Given the description of an element on the screen output the (x, y) to click on. 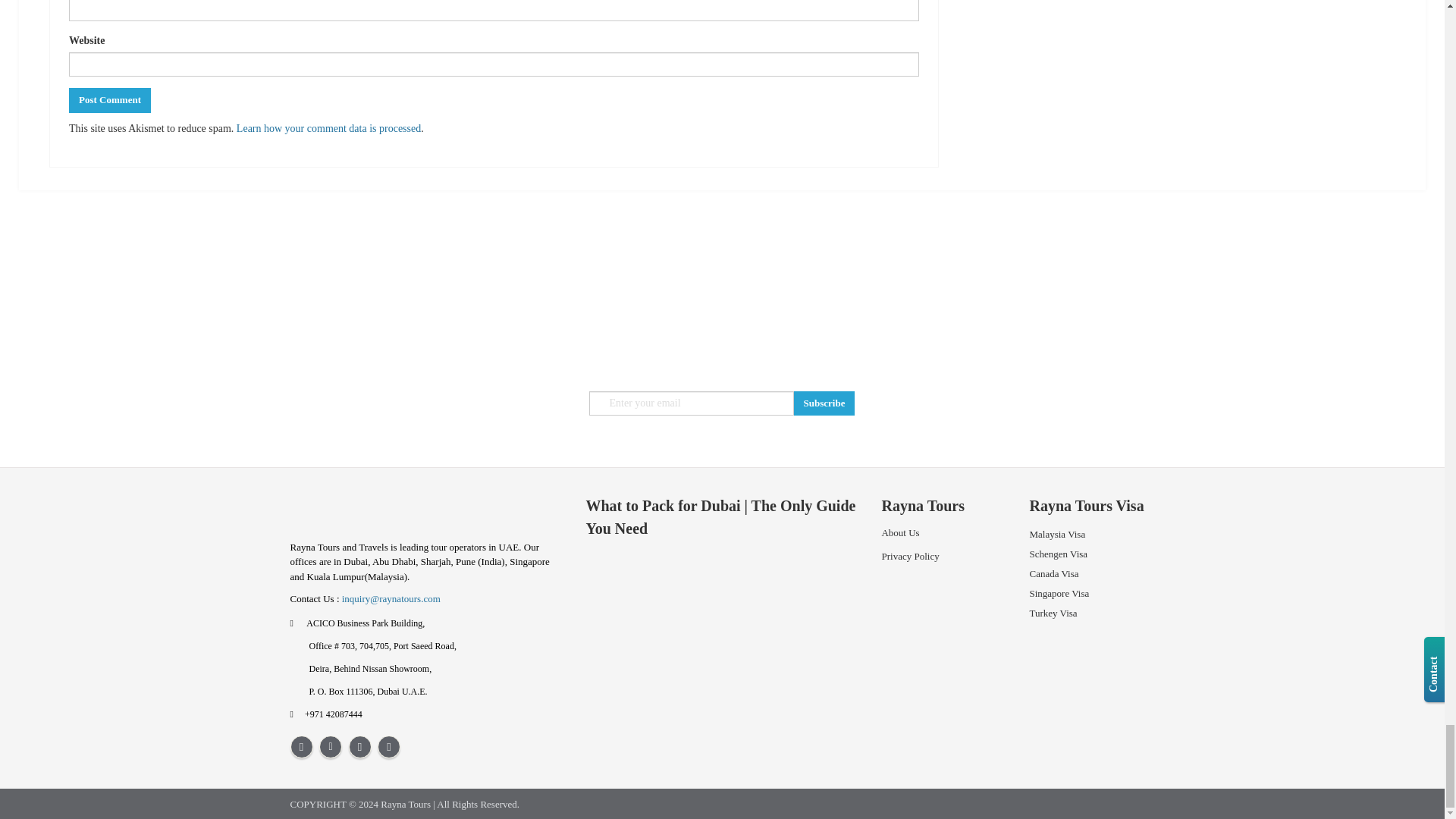
Post Comment (109, 100)
